Given the description of an element on the screen output the (x, y) to click on. 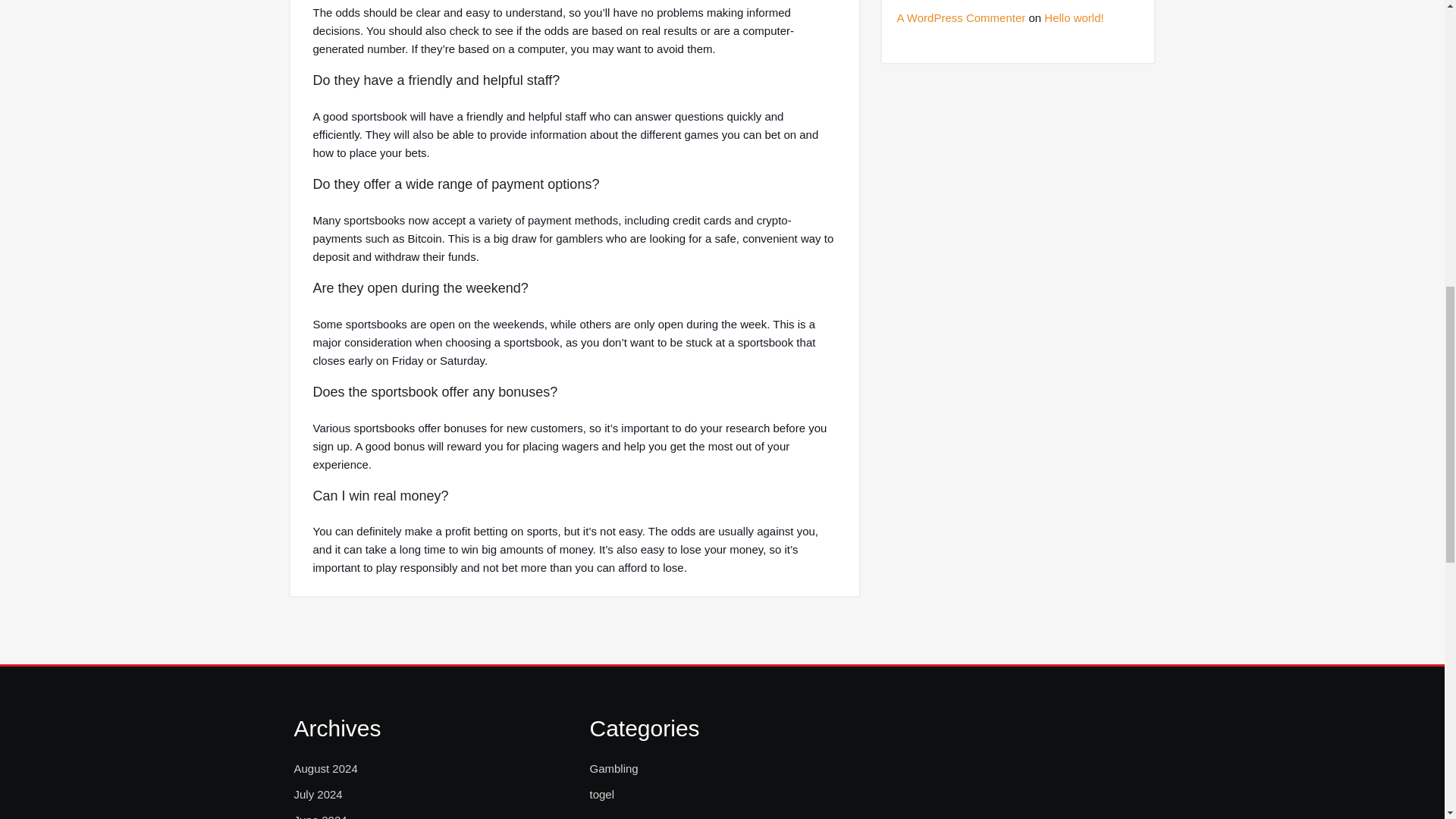
Hello world! (1073, 17)
June 2024 (320, 815)
August 2024 (326, 769)
A WordPress Commenter (960, 17)
July 2024 (318, 794)
